Given the description of an element on the screen output the (x, y) to click on. 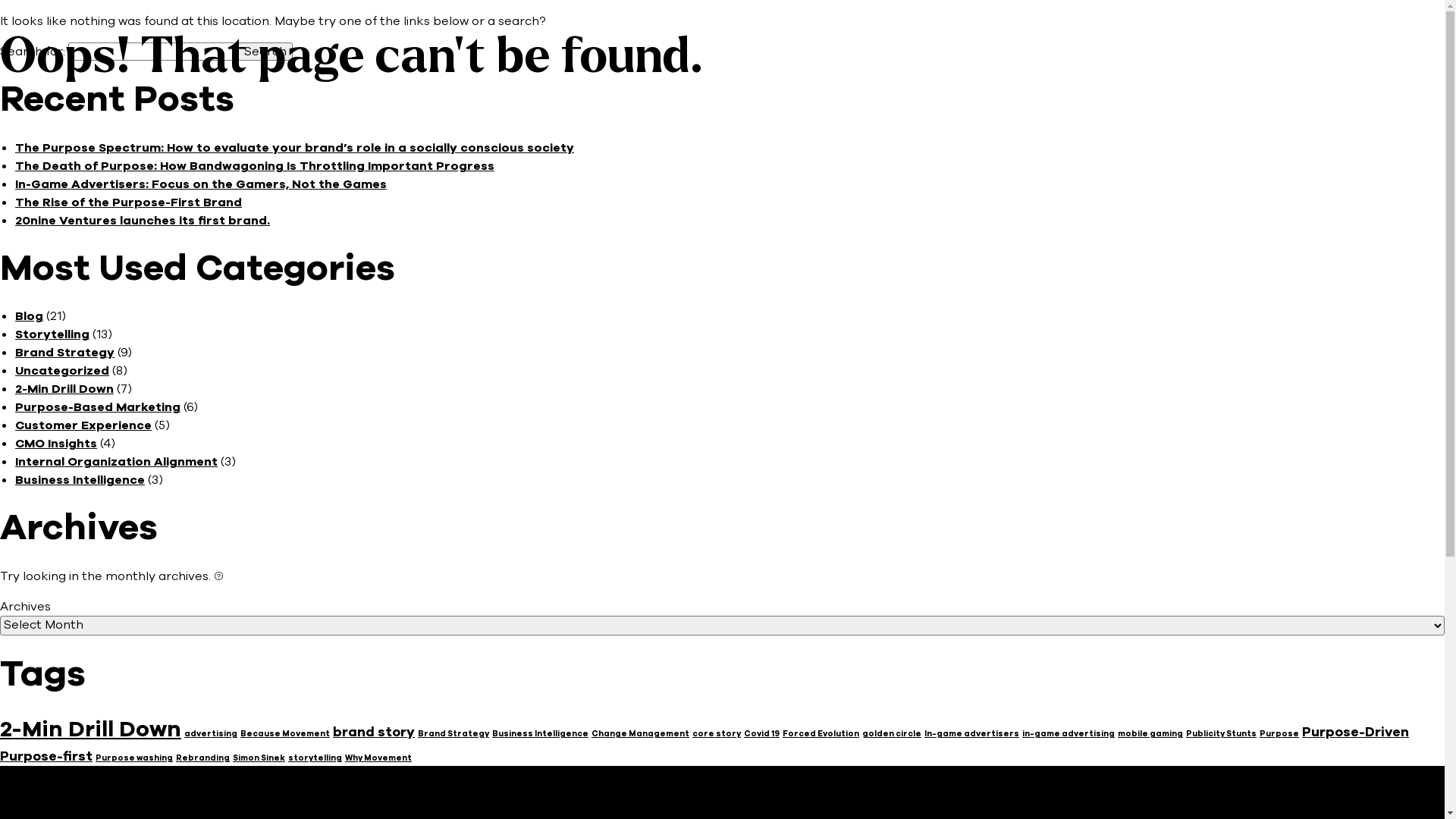
brand story Element type: text (373, 731)
Rebranding Element type: text (202, 757)
Purpose Element type: text (1279, 733)
Covid 19 Element type: text (761, 733)
CMO Insights Element type: text (56, 443)
Business Intelligence Element type: text (540, 733)
Purpose-Based Marketing Element type: text (97, 406)
Why Movement Element type: text (378, 757)
Purpose washing Element type: text (133, 757)
golden circle Element type: text (891, 733)
Storytelling Element type: text (52, 334)
Simon Sinek Element type: text (258, 757)
The Rise of the Purpose-First Brand Element type: text (128, 202)
mobile gaming Element type: text (1150, 733)
2-Min Drill Down Element type: text (90, 728)
core story Element type: text (716, 733)
in-game advertising Element type: text (1068, 733)
In-Game Advertisers: Focus on the Gamers, Not the Games Element type: text (200, 183)
Brand Strategy Element type: text (64, 352)
advertising Element type: text (210, 733)
Internal Organization Alignment Element type: text (116, 461)
2-Min Drill Down Element type: text (64, 388)
20nine Ventures launches its first brand. Element type: text (142, 220)
Brand Strategy Element type: text (453, 733)
Customer Experience Element type: text (83, 425)
Publicity Stunts Element type: text (1221, 733)
Search Element type: text (265, 51)
Purpose-first Element type: text (46, 755)
Blog Element type: text (29, 315)
Forced Evolution Element type: text (820, 733)
Purpose-Driven Element type: text (1355, 731)
Because Movement Element type: text (284, 733)
In-game advertisers Element type: text (971, 733)
Change Management Element type: text (640, 733)
Uncategorized Element type: text (62, 370)
Business Intelligence Element type: text (79, 479)
storytelling Element type: text (315, 757)
